Given the description of an element on the screen output the (x, y) to click on. 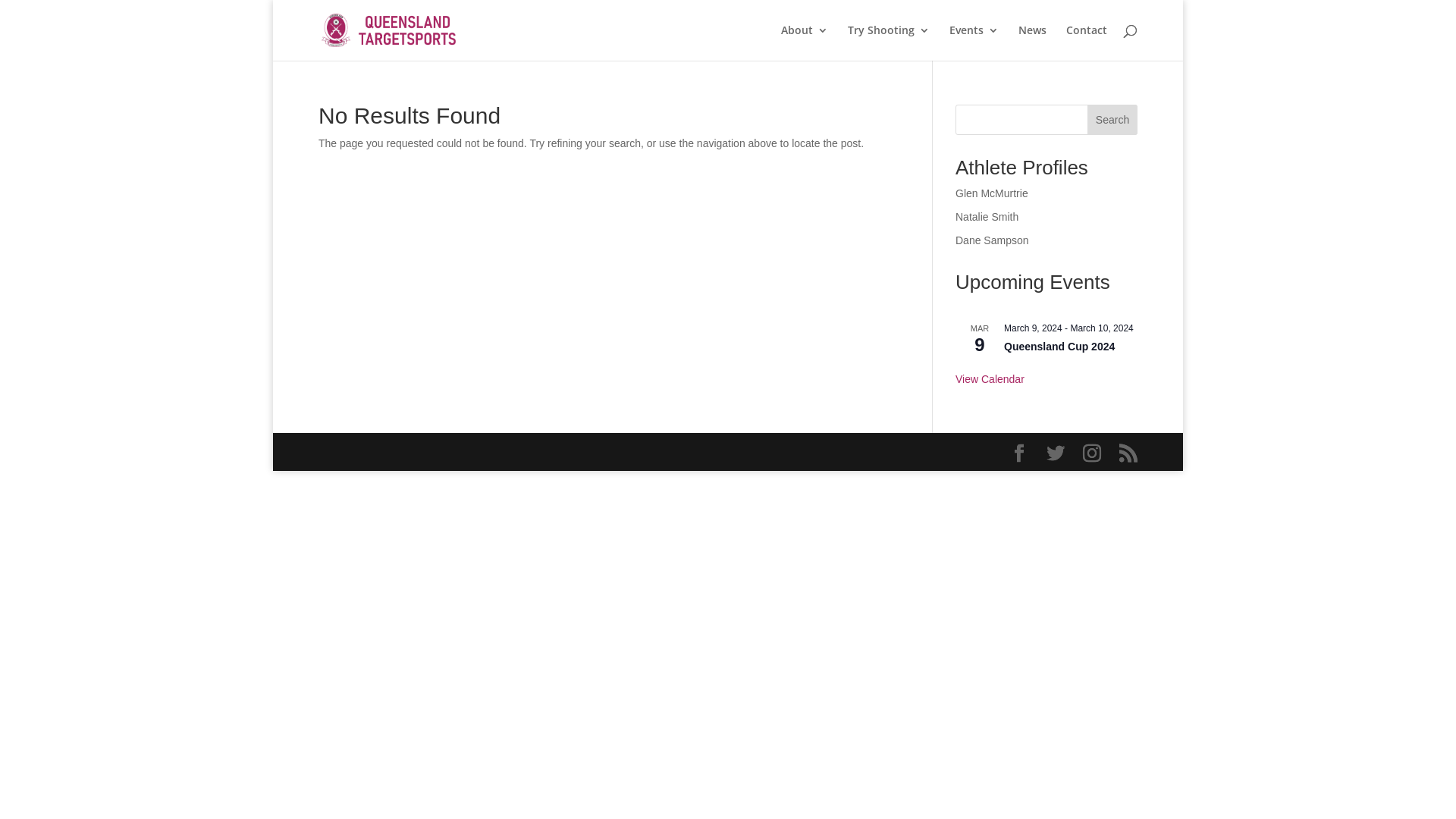
View Calendar Element type: text (989, 379)
About Element type: text (804, 42)
Try Shooting Element type: text (888, 42)
Search Element type: text (1112, 119)
Natalie Smith Element type: text (986, 216)
Glen McMurtrie Element type: text (991, 193)
News Element type: text (1032, 42)
Events Element type: text (973, 42)
Queensland Cup 2024 Element type: text (1059, 346)
Contact Element type: text (1086, 42)
Dane Sampson Element type: text (992, 240)
